Given the description of an element on the screen output the (x, y) to click on. 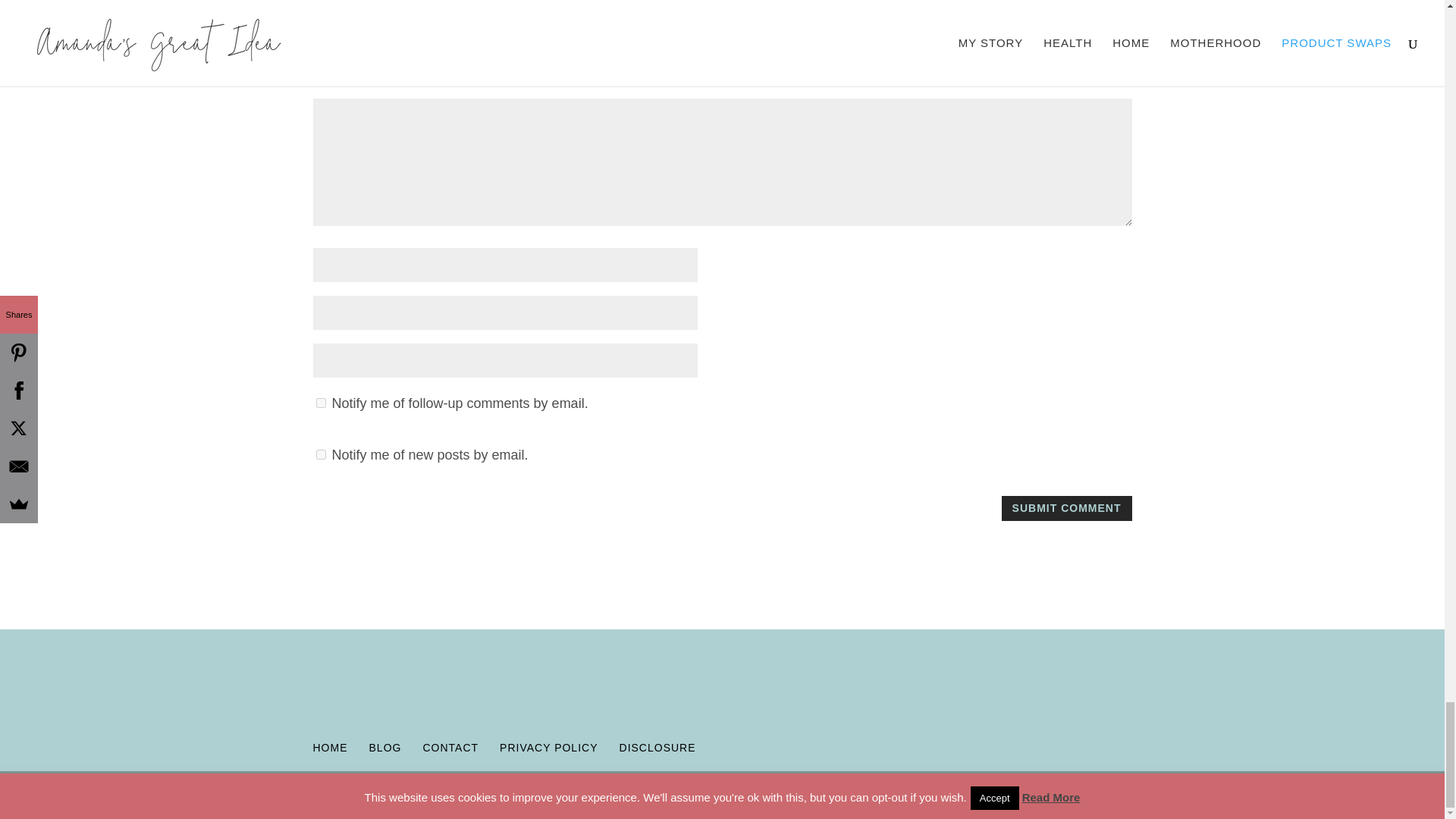
Submit Comment (1066, 508)
subscribe (319, 402)
subscribe (319, 454)
